Given the description of an element on the screen output the (x, y) to click on. 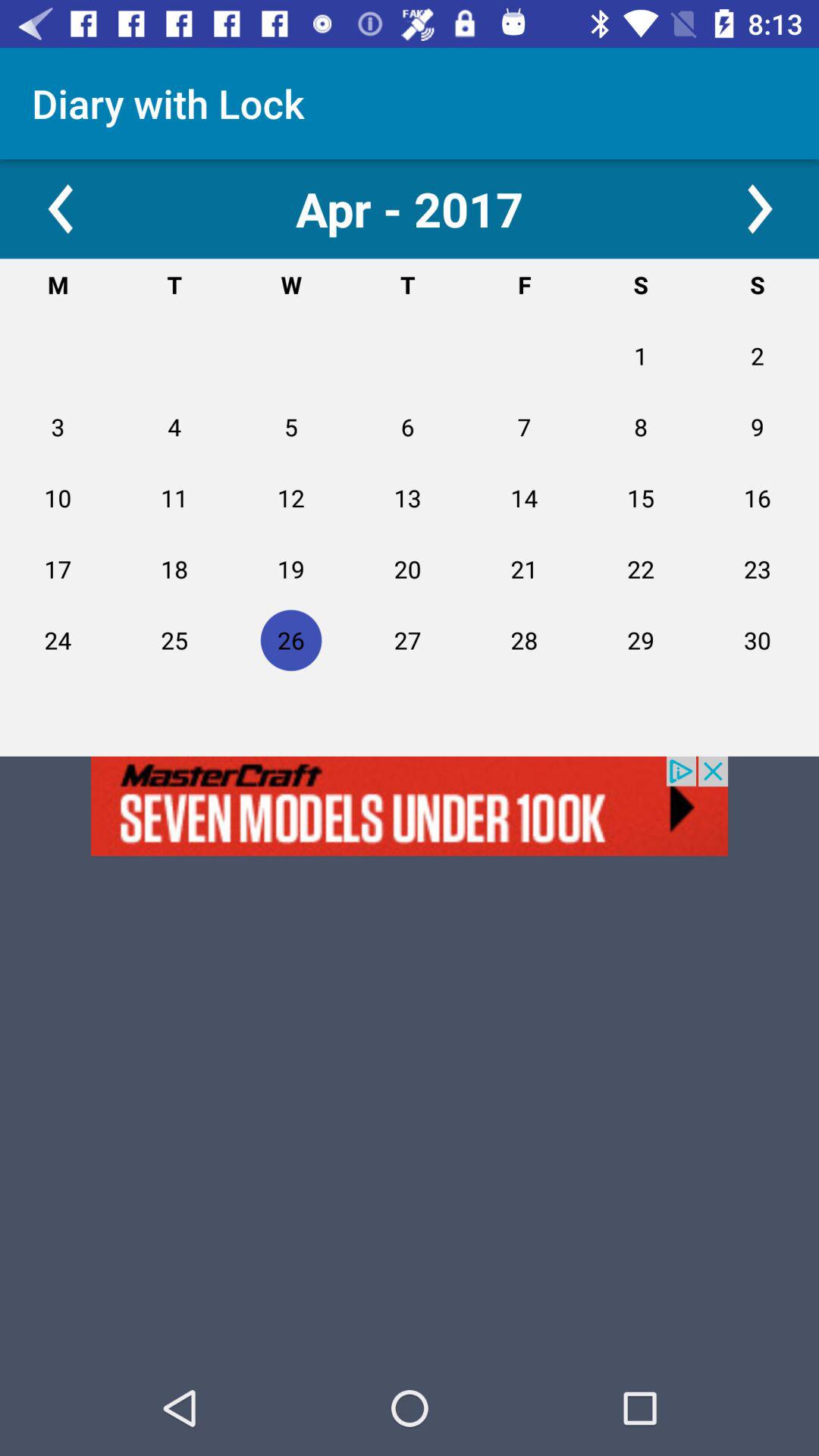
go back (59, 208)
